Given the description of an element on the screen output the (x, y) to click on. 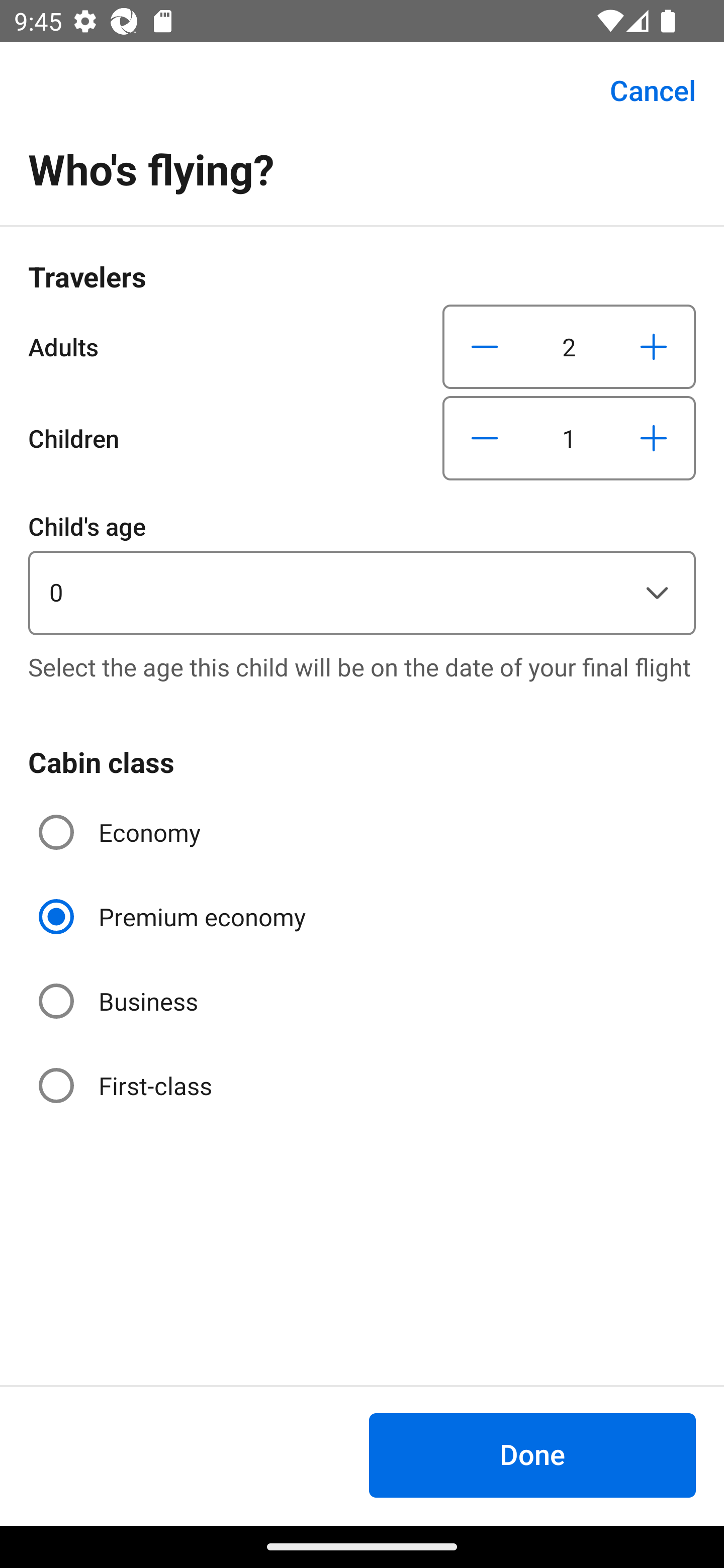
Cancel (641, 90)
Decrease (484, 346)
Increase (653, 346)
Decrease (484, 437)
Increase (653, 437)
Child's age
 Child's age 0 (361, 571)
Economy (121, 832)
Premium economy (174, 916)
Business (120, 1000)
First-class (126, 1084)
Done (532, 1454)
